Given the description of an element on the screen output the (x, y) to click on. 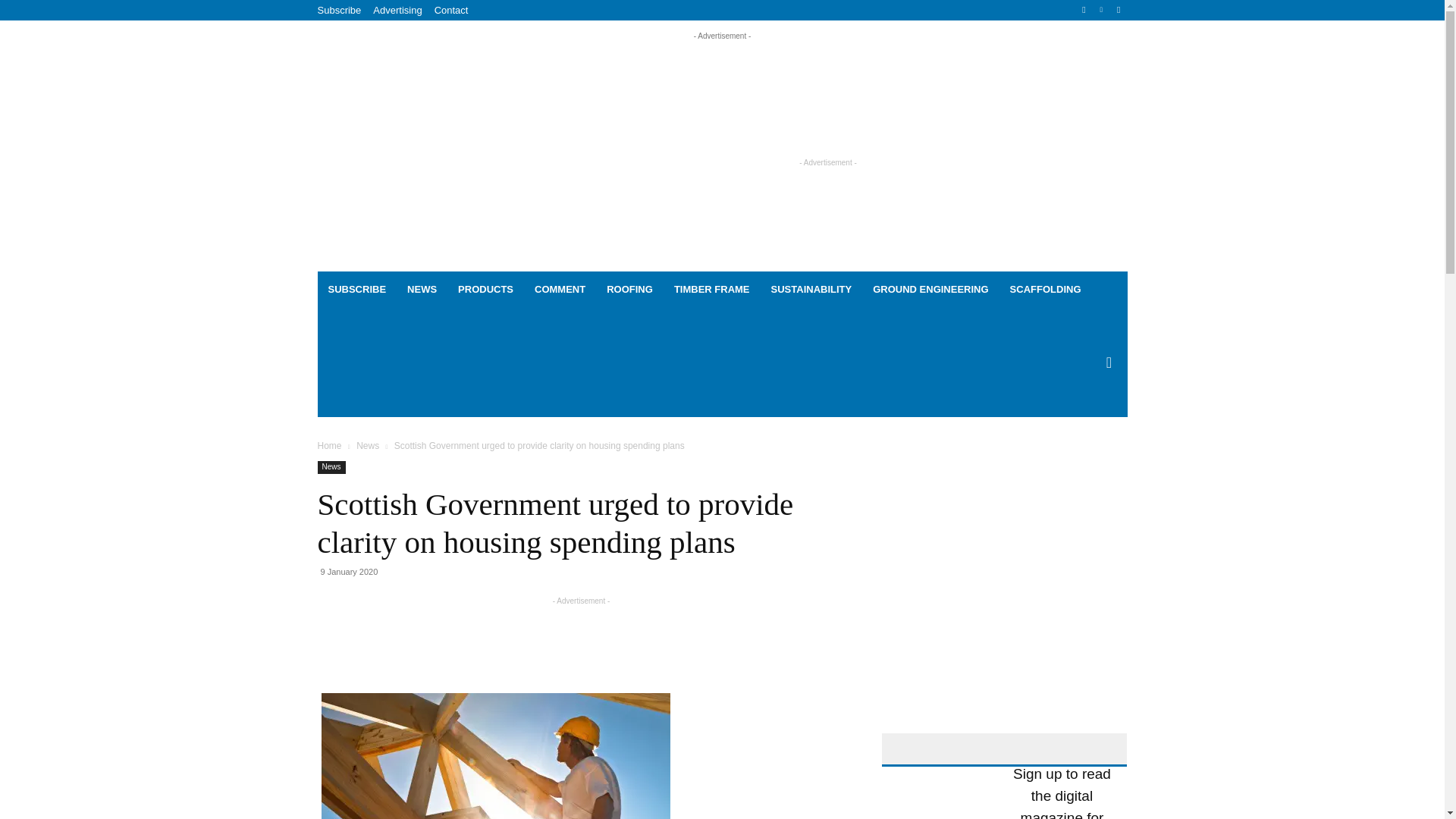
View all posts in News (367, 445)
Home (328, 445)
SUBSCRIBE (356, 289)
Advertising (397, 9)
COMMENT (559, 289)
Facebook (1084, 9)
SUSTAINABILITY (811, 289)
ROOFING (629, 289)
SCAFFOLDING (1045, 289)
Linkedin (1101, 9)
Subscribe (339, 9)
GROUND ENGINEERING (929, 289)
PRODUCTS (485, 289)
Project Scotland (404, 147)
Twitter (1117, 9)
